Given the description of an element on the screen output the (x, y) to click on. 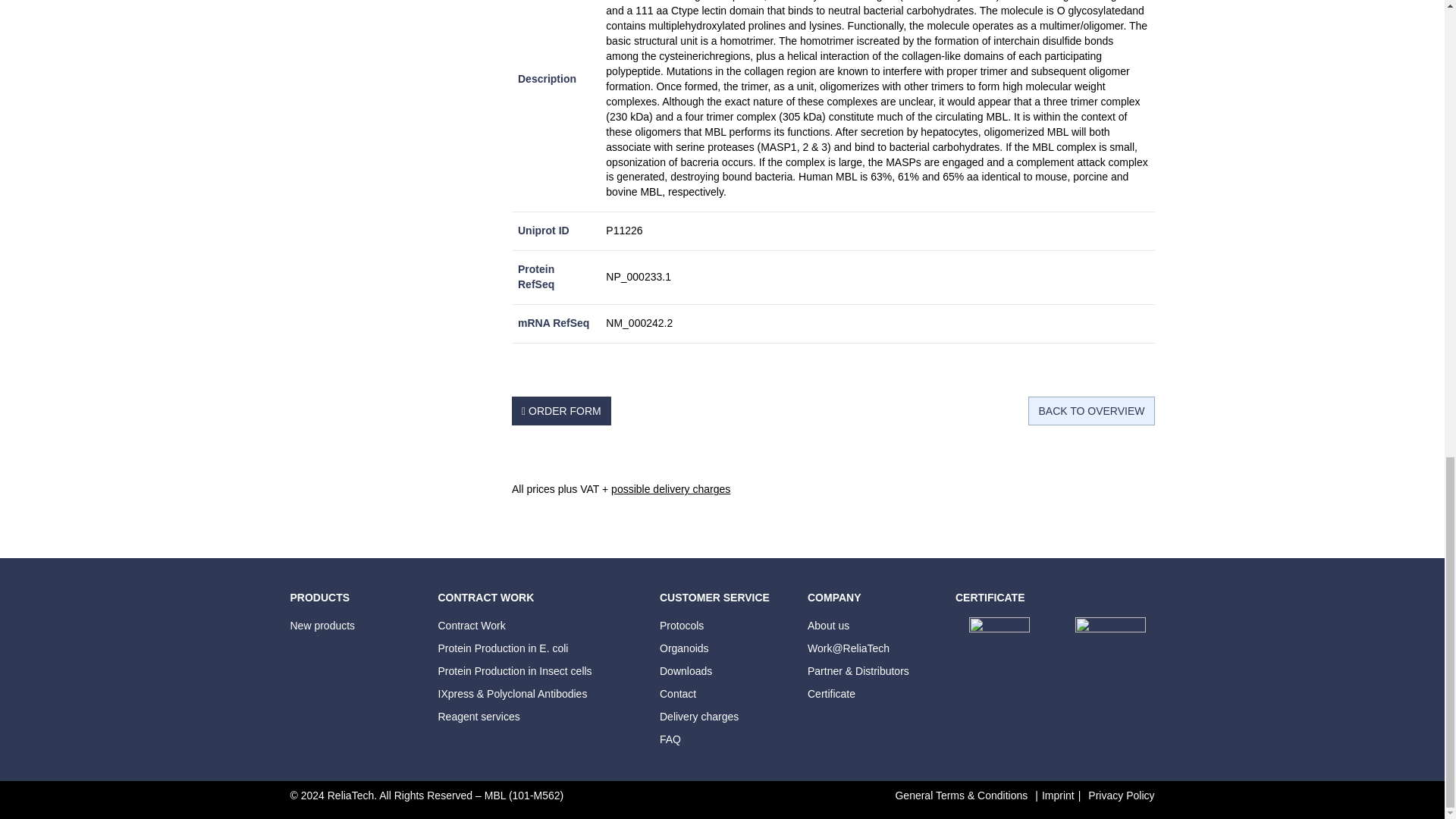
Certificate (832, 693)
Protein Production in Insect cells (515, 671)
About us (828, 625)
Protein Production in E. coli (503, 648)
Protocols (681, 625)
Delivery charges (698, 716)
Contact (677, 693)
New products (322, 625)
Organoids (684, 648)
FAQ (670, 739)
Contract Work (471, 625)
Downloads (685, 671)
Reagent services (478, 716)
